Given the description of an element on the screen output the (x, y) to click on. 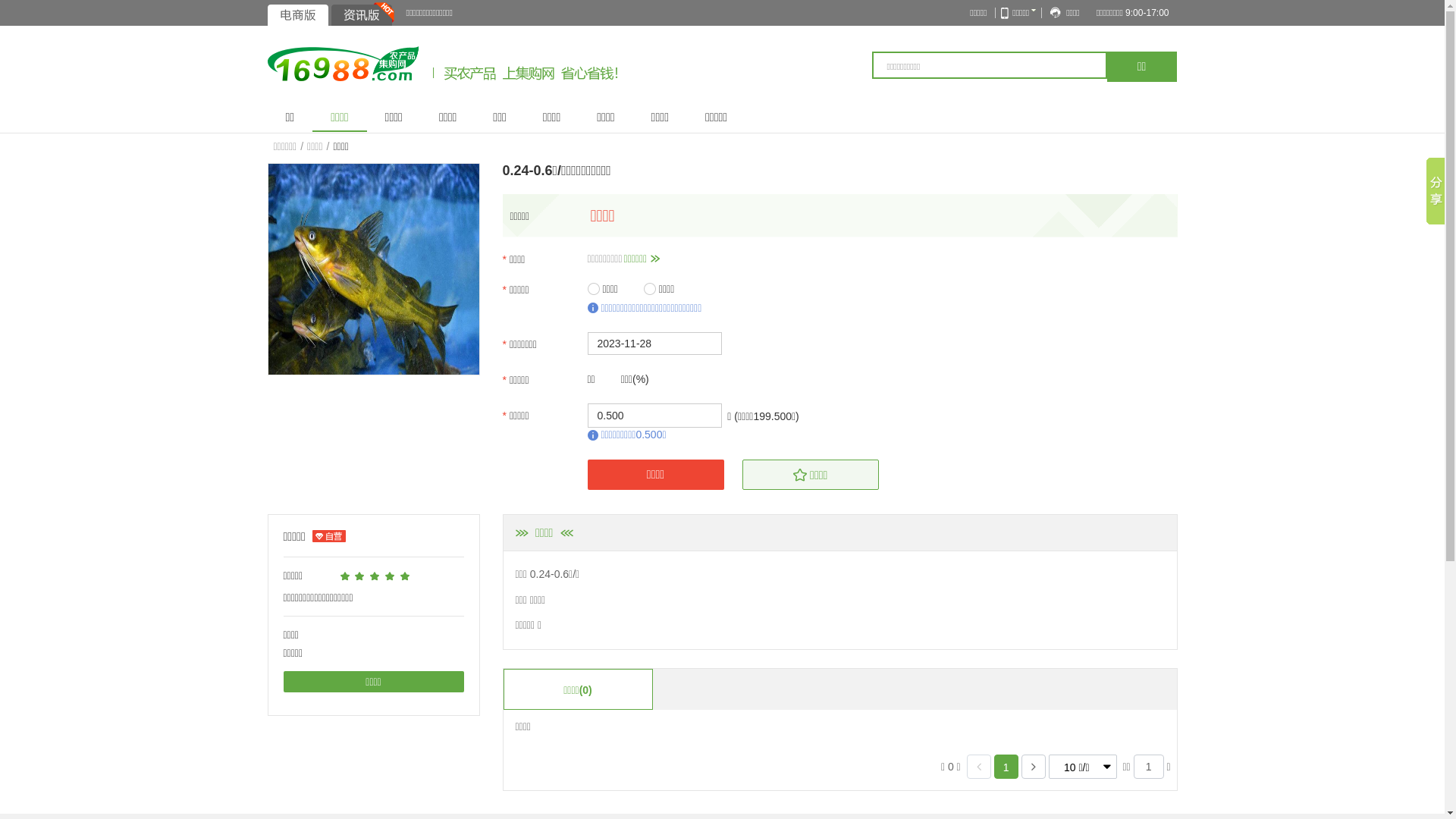
1 Element type: text (1006, 767)
